Given the description of an element on the screen output the (x, y) to click on. 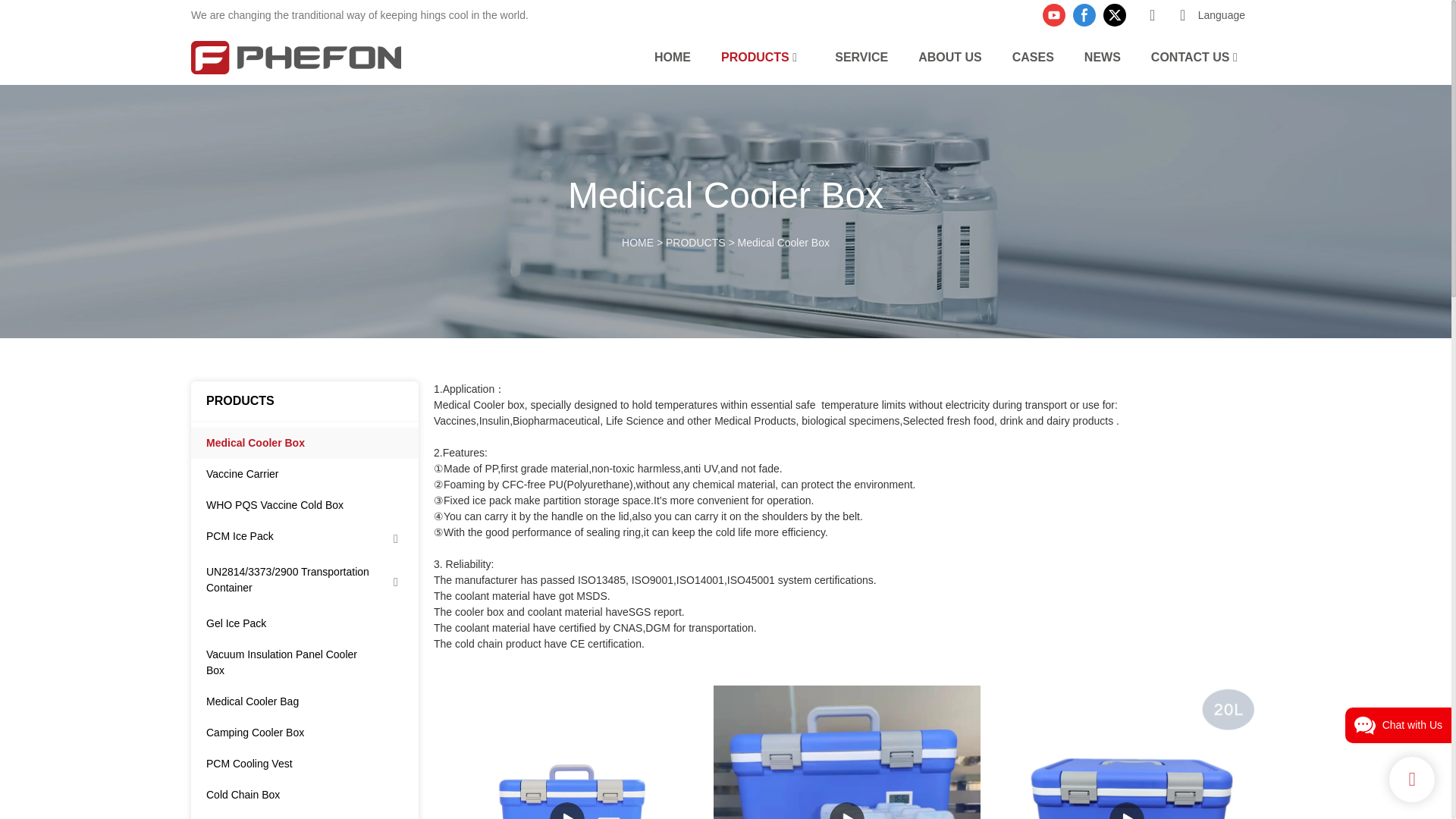
facebook (1083, 15)
CONTACT US (1190, 56)
twitter (1114, 15)
youtube (1053, 15)
SERVICE (861, 56)
CASES (1032, 56)
ABOUT US (949, 56)
HOME (671, 56)
PRODUCTS (695, 242)
HOME (637, 242)
